Given the description of an element on the screen output the (x, y) to click on. 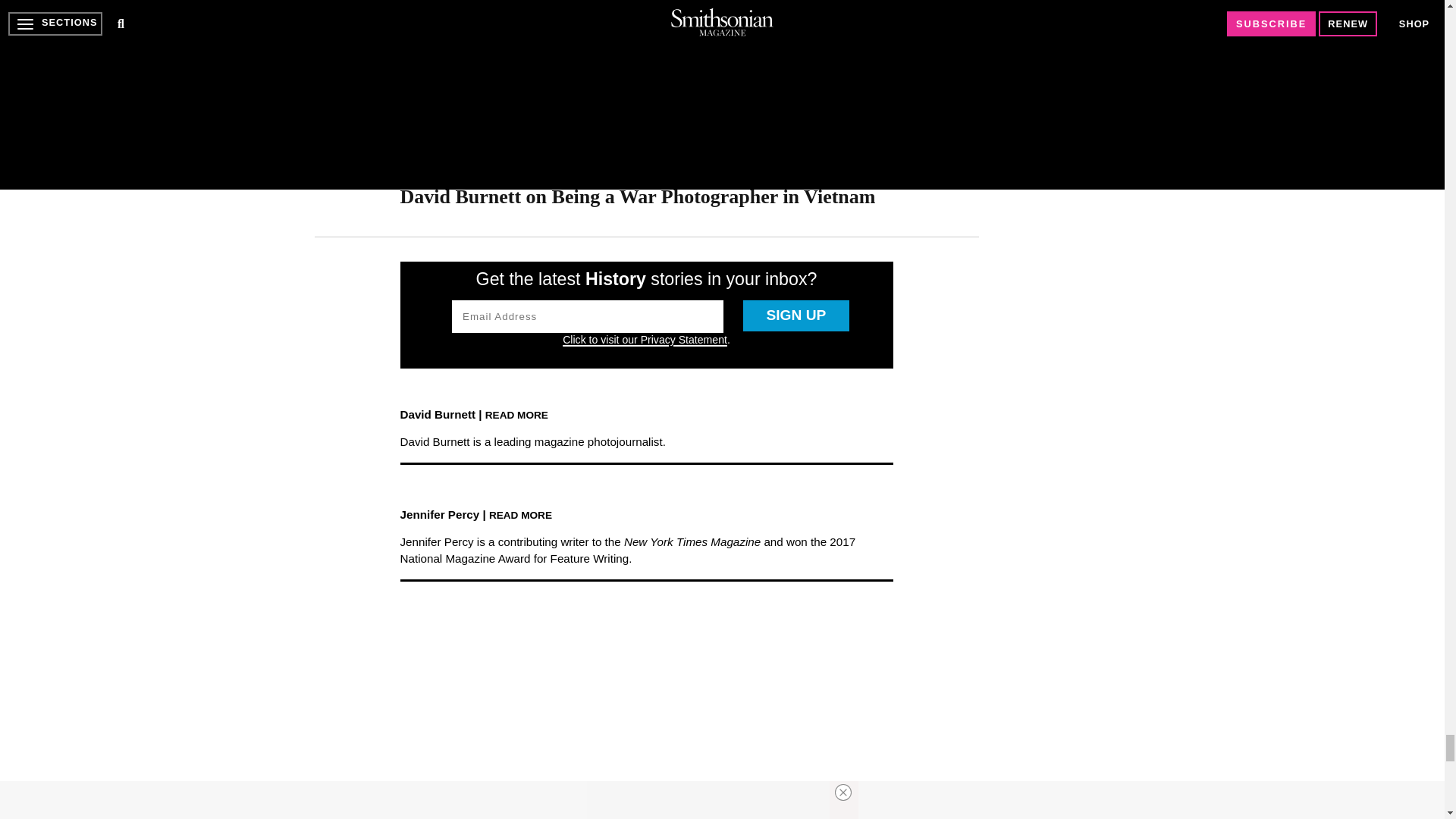
Read more from this author (520, 513)
Read more from this author (516, 413)
Sign Up (795, 315)
